Given the description of an element on the screen output the (x, y) to click on. 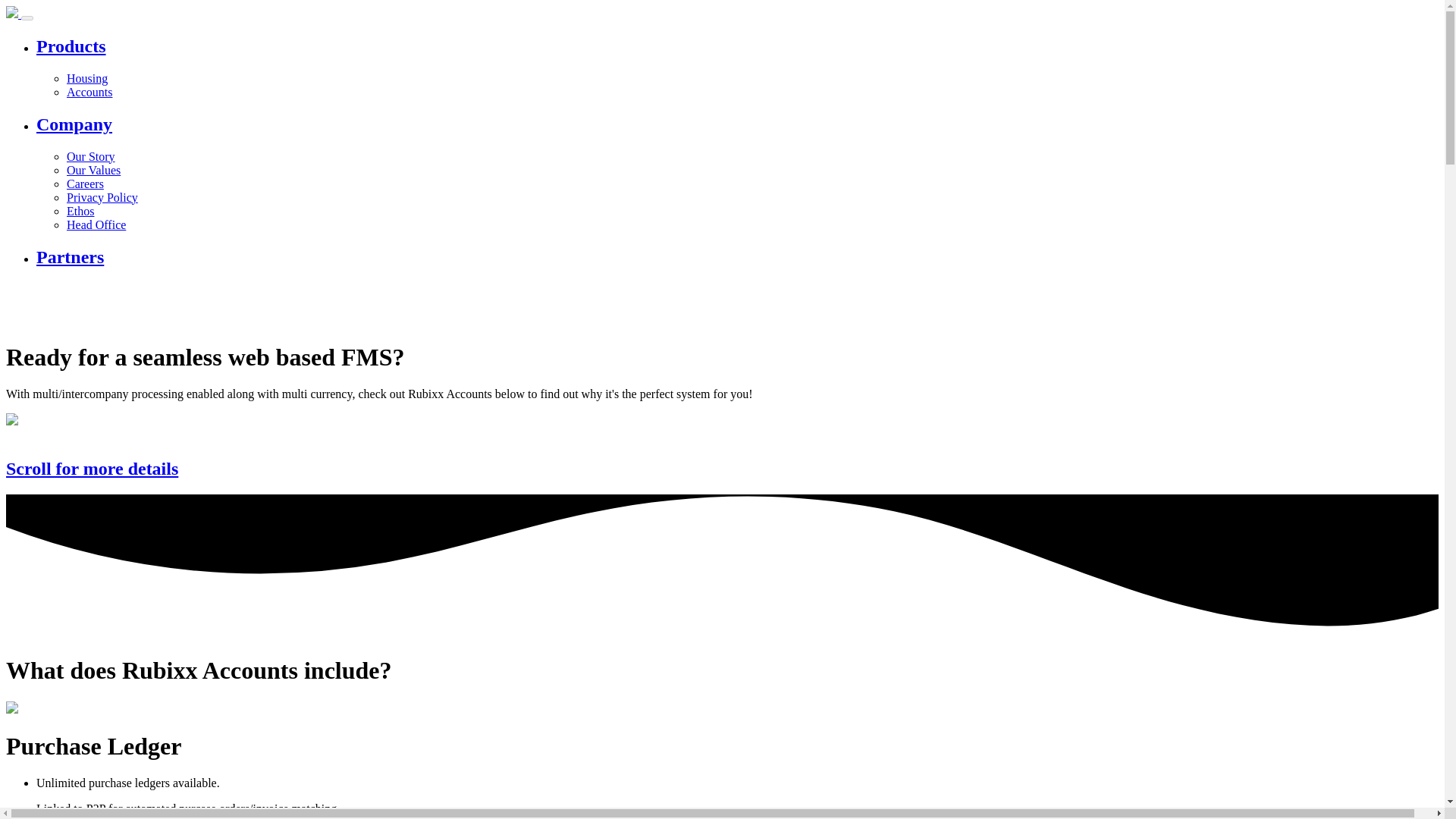
Privacy Policy (102, 196)
Company (737, 124)
Our Values (93, 169)
Our Story (90, 155)
Head Office (95, 224)
Careers (84, 183)
Scroll for more details (721, 468)
Products (737, 46)
Accounts (89, 91)
Ethos (80, 210)
Housing (86, 78)
Partners (737, 257)
